Given the description of an element on the screen output the (x, y) to click on. 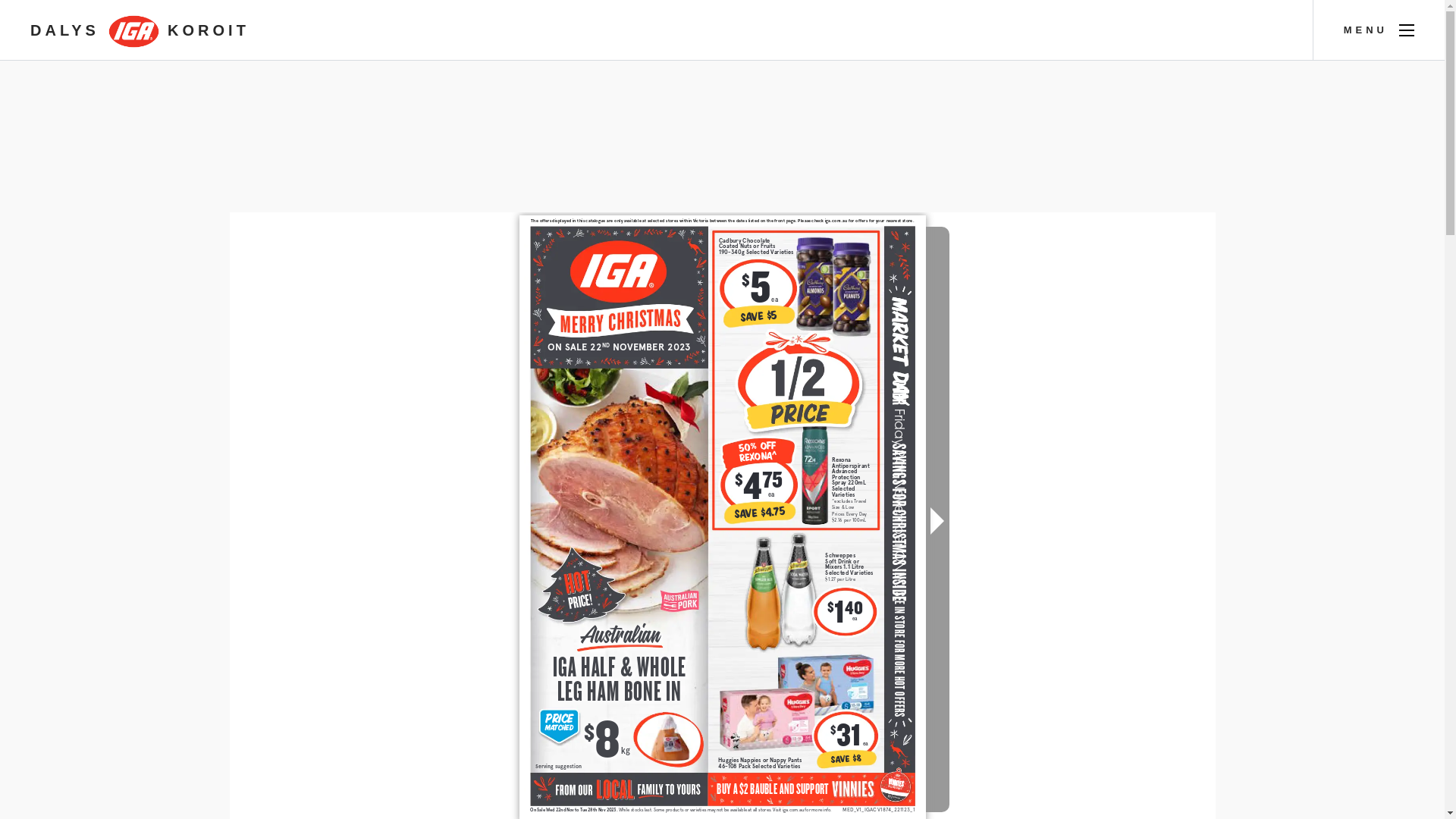
MENU Element type: text (1378, 29)
DALYS KOROIT Element type: text (139, 29)
